Given the description of an element on the screen output the (x, y) to click on. 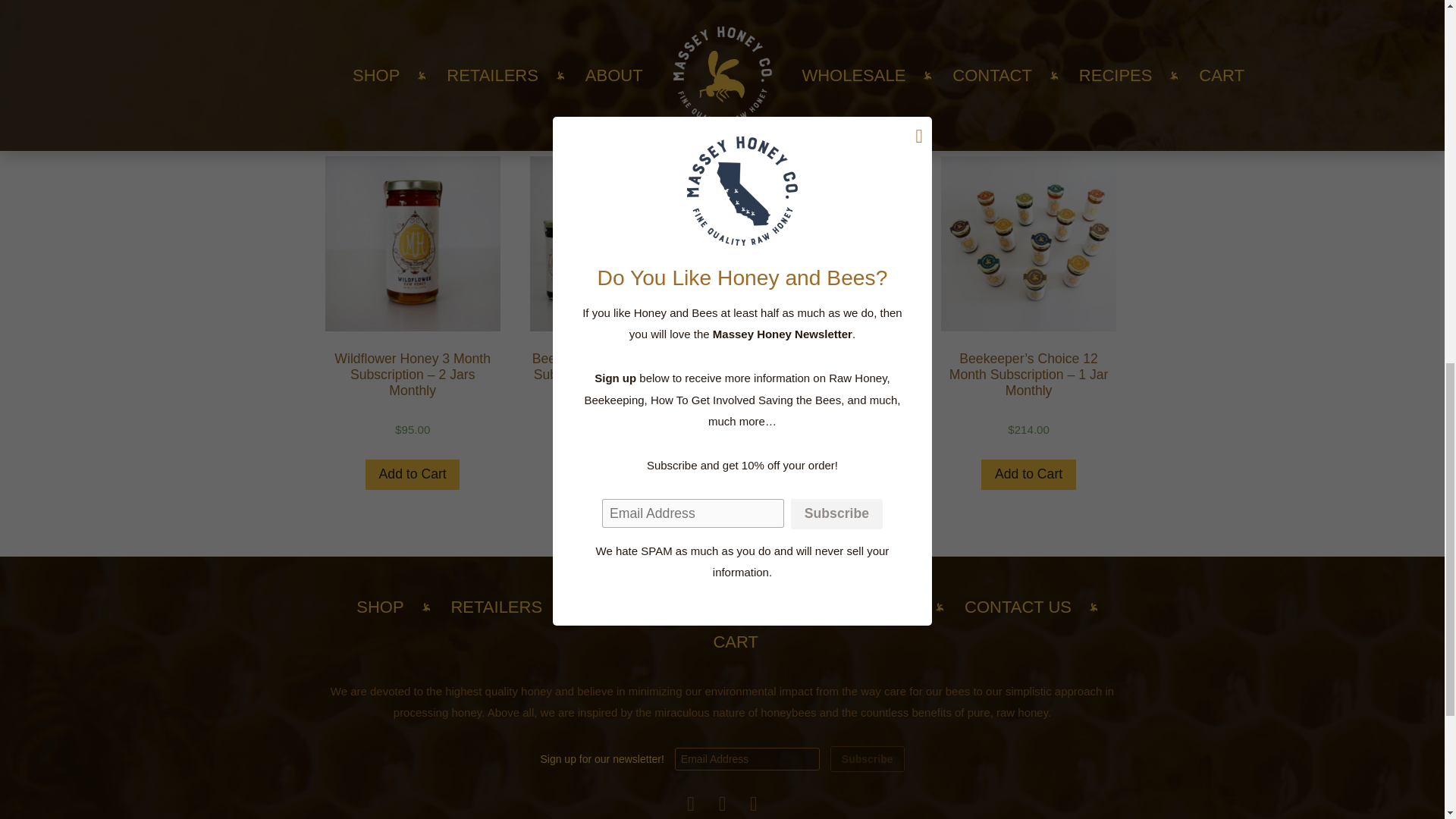
CONTACT US (1017, 606)
on (459, 9)
Add to Cart (1028, 473)
1 (356, 39)
Qty (356, 39)
Add to Cart (412, 473)
Subscribe (866, 758)
RECIPES (625, 606)
Add to Cart (617, 458)
ABOUT (888, 606)
Add to cart (440, 39)
SHOP (379, 606)
RETAILERS (495, 606)
Add to Cart (823, 458)
CART (735, 641)
